Given the description of an element on the screen output the (x, y) to click on. 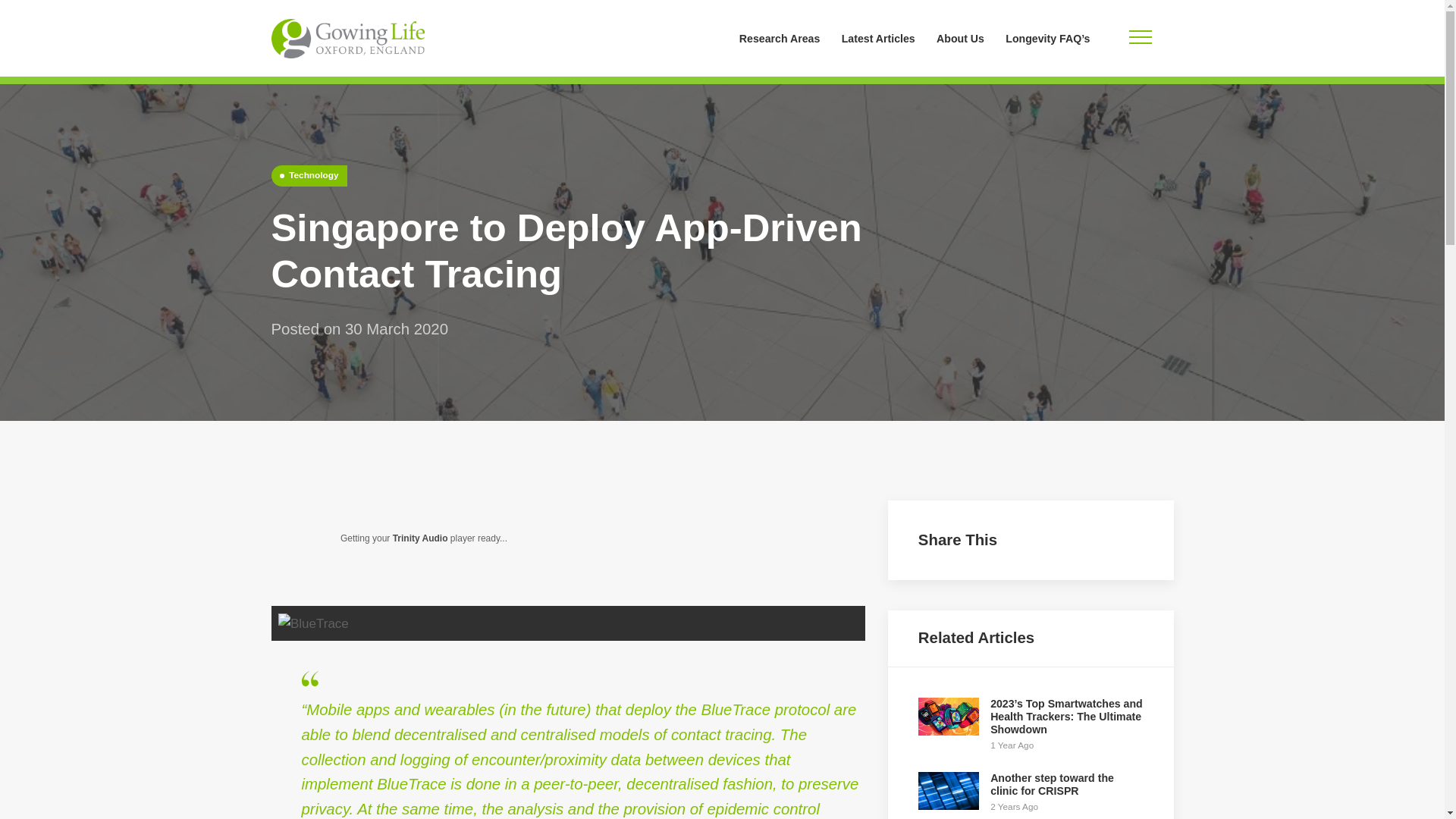
Trinity Audio (420, 538)
Latest Articles (877, 38)
Research Areas (779, 38)
Technology (1030, 793)
Open Navigation Menu (308, 175)
About Us (1139, 38)
